Given the description of an element on the screen output the (x, y) to click on. 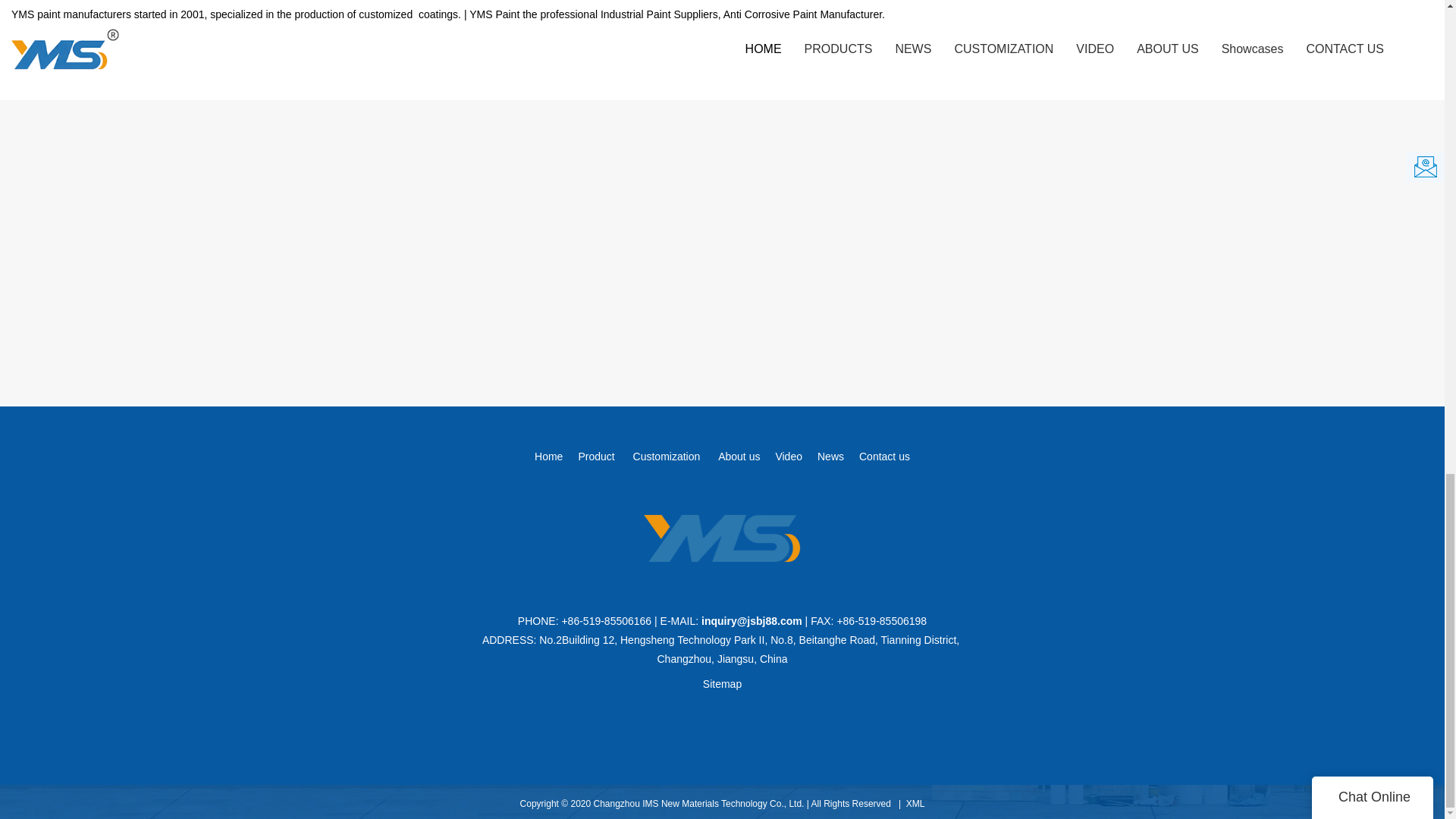
Video (788, 456)
Customization (666, 456)
About us (738, 456)
Home (548, 456)
Heat Resistant Paint: Shielding Your Surfaces with Style (403, 17)
Product (596, 456)
